Given the description of an element on the screen output the (x, y) to click on. 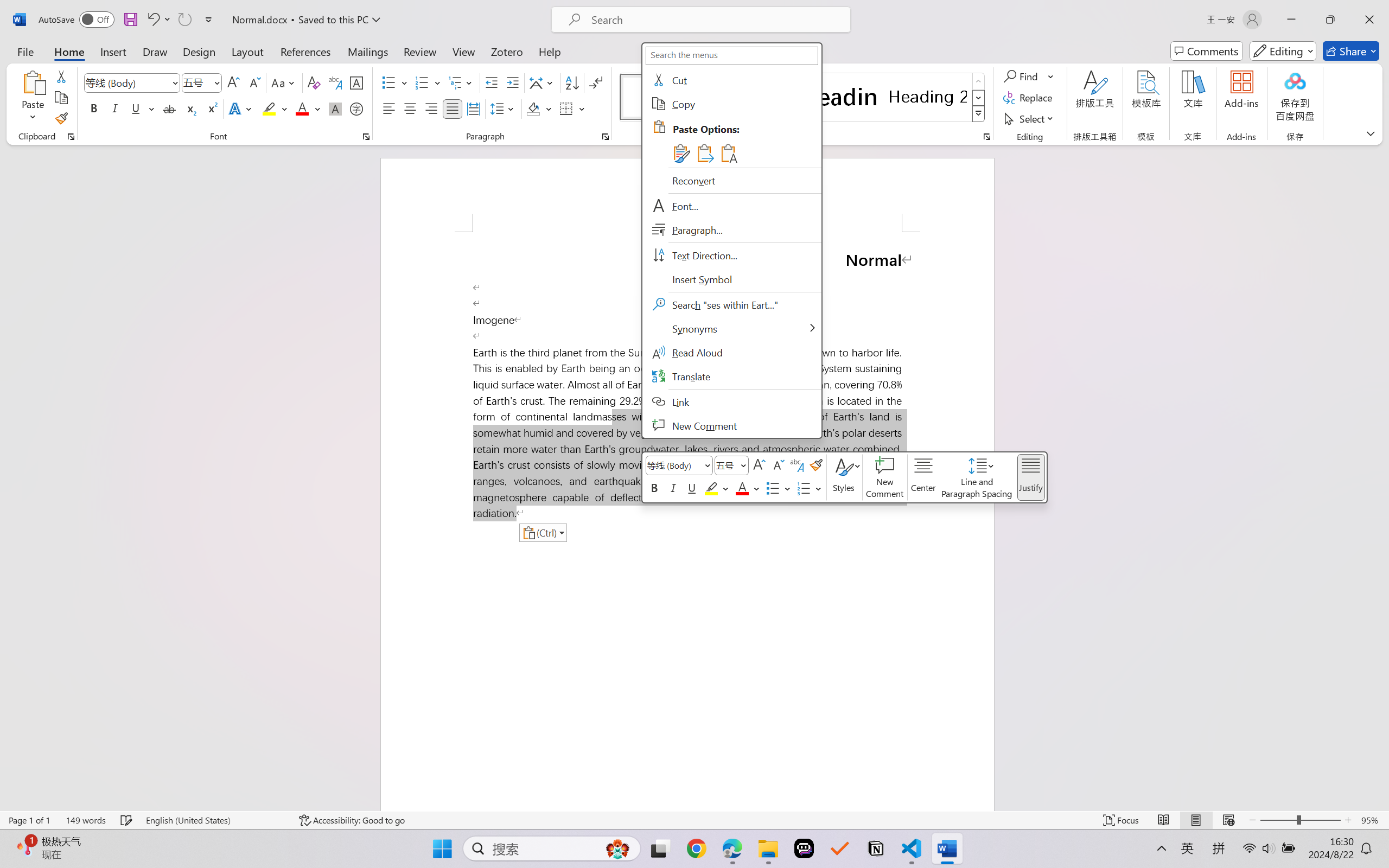
Font... (365, 136)
Undo Paste Text Only (152, 19)
Justify (452, 108)
Change Case (284, 82)
Replace... (1029, 97)
Increase Indent (512, 82)
New Comment (884, 476)
